Given the description of an element on the screen output the (x, y) to click on. 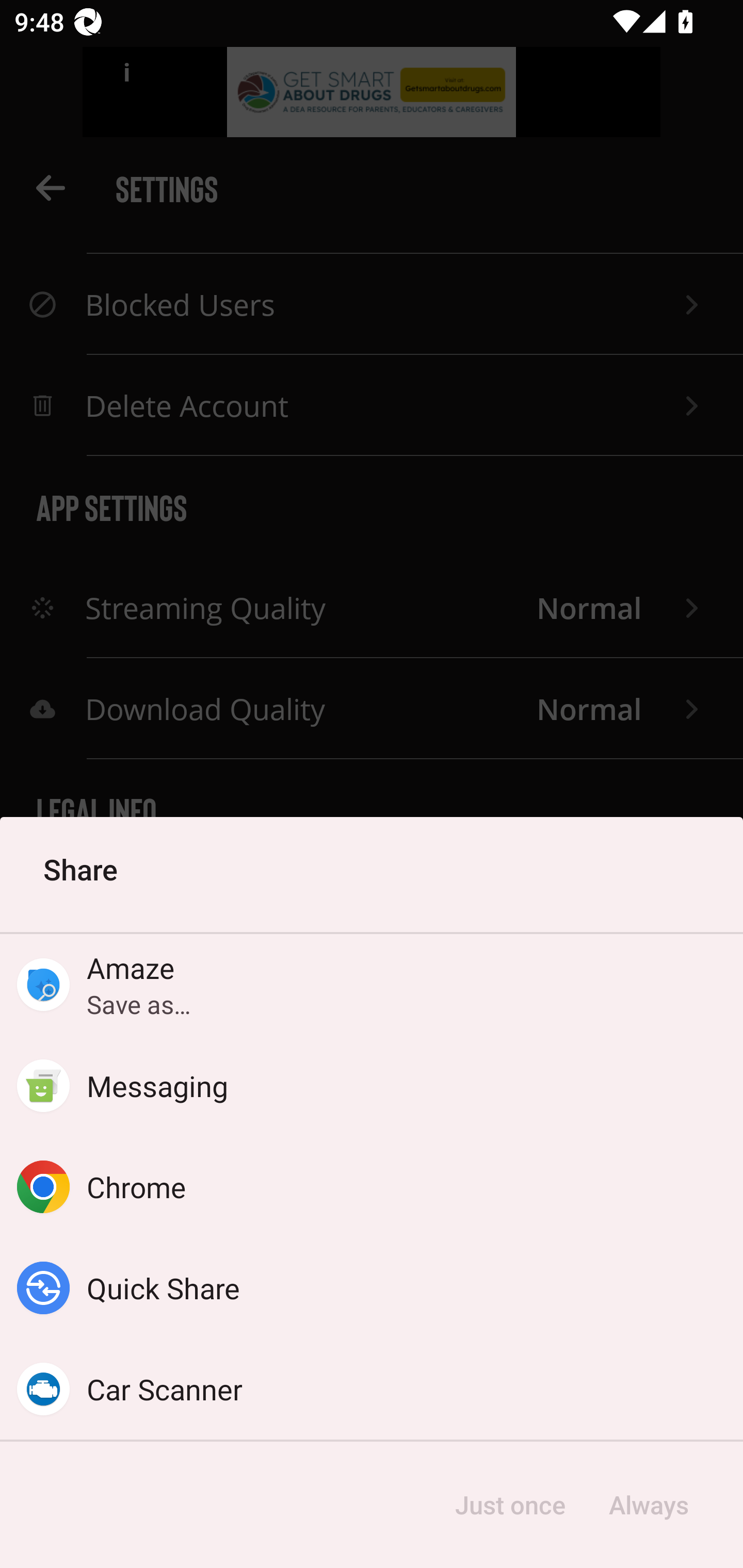
Amaze Save as… (371, 984)
Messaging (371, 1085)
Chrome (371, 1186)
Quick Share (371, 1288)
Car Scanner (371, 1389)
Just once (509, 1504)
Always (648, 1504)
